Given the description of an element on the screen output the (x, y) to click on. 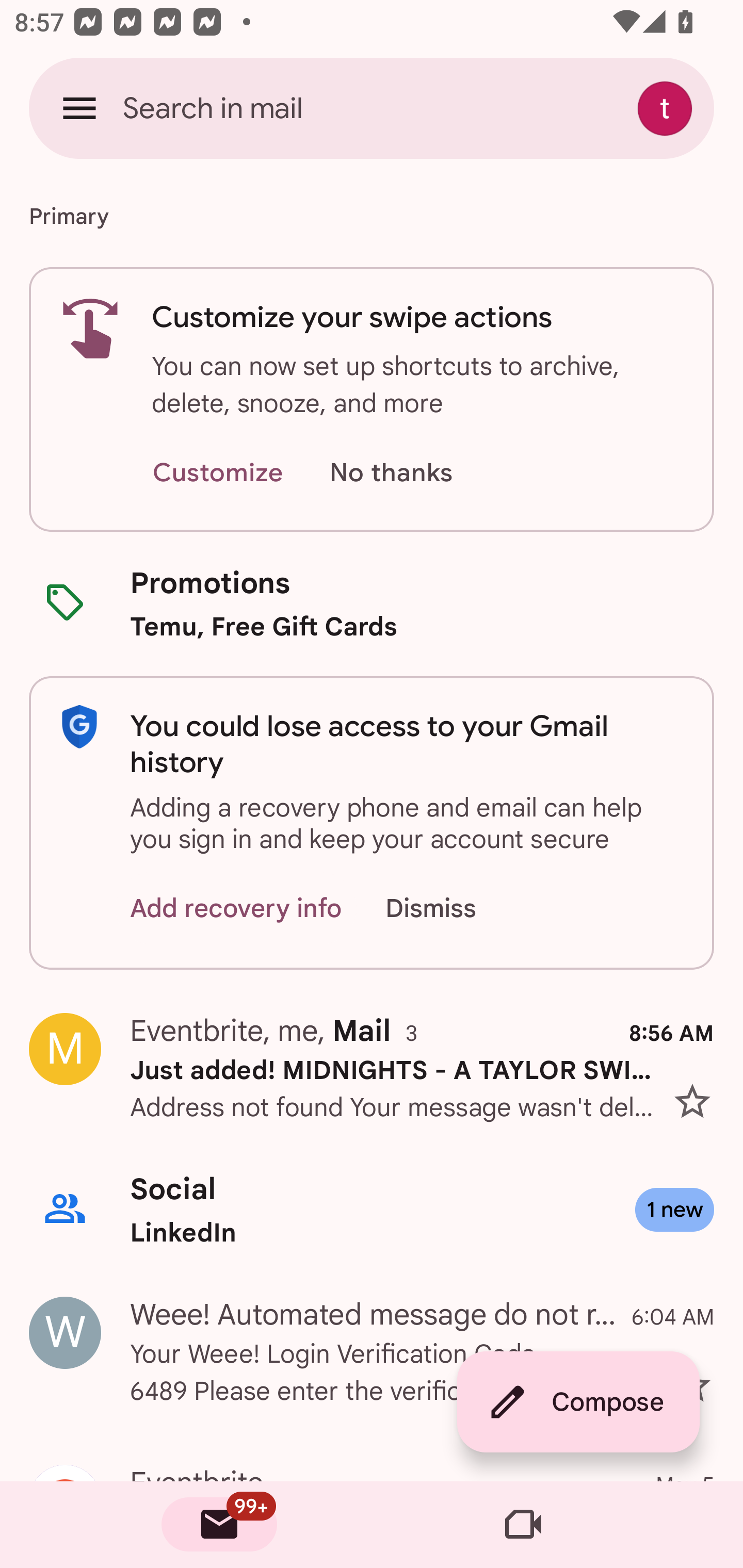
Open navigation drawer (79, 108)
Customize (217, 473)
No thanks (390, 473)
Promotions Temu, Free Gift Cards (371, 603)
Add recovery info (235, 908)
Dismiss (449, 908)
Social LinkedIn 1 new (371, 1210)
Compose (577, 1401)
Meet (523, 1524)
